Given the description of an element on the screen output the (x, y) to click on. 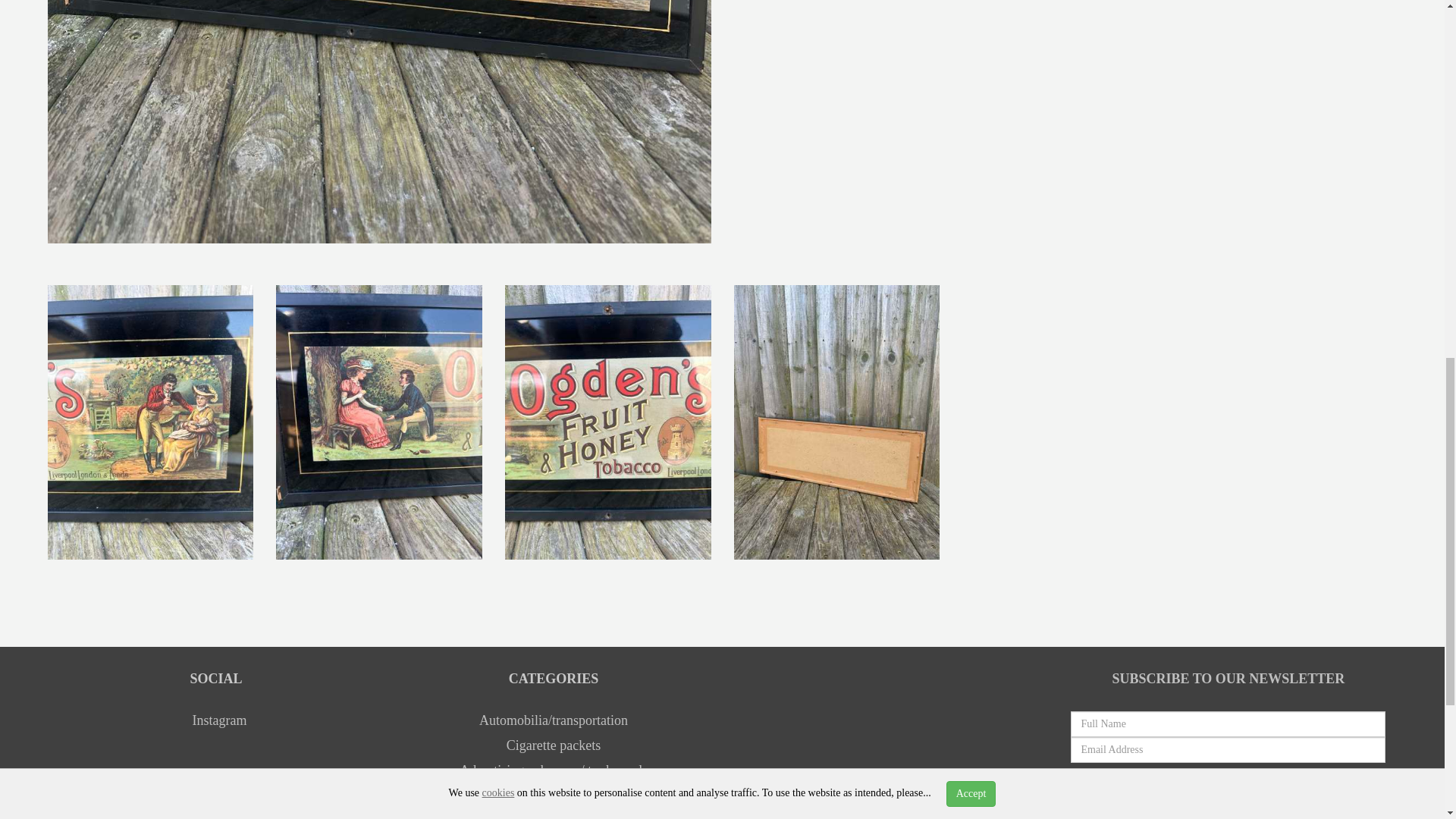
Privacy Policy (1265, 778)
Cigarette packets (552, 744)
Needle Tins (553, 794)
on (1165, 777)
Sign Up (1228, 807)
Signs (553, 815)
  Instagram (216, 720)
